Given the description of an element on the screen output the (x, y) to click on. 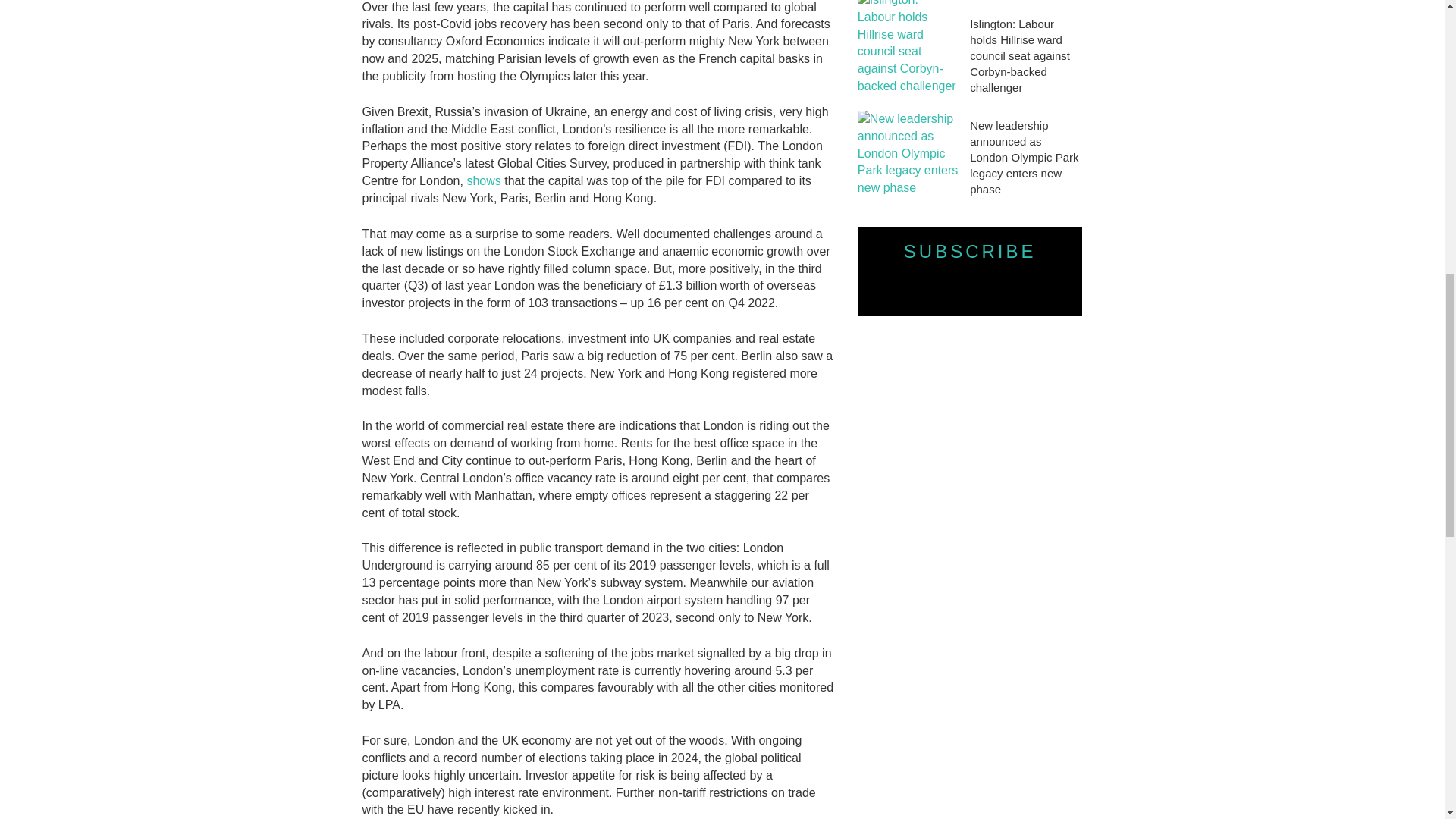
shows (482, 180)
